Given the description of an element on the screen output the (x, y) to click on. 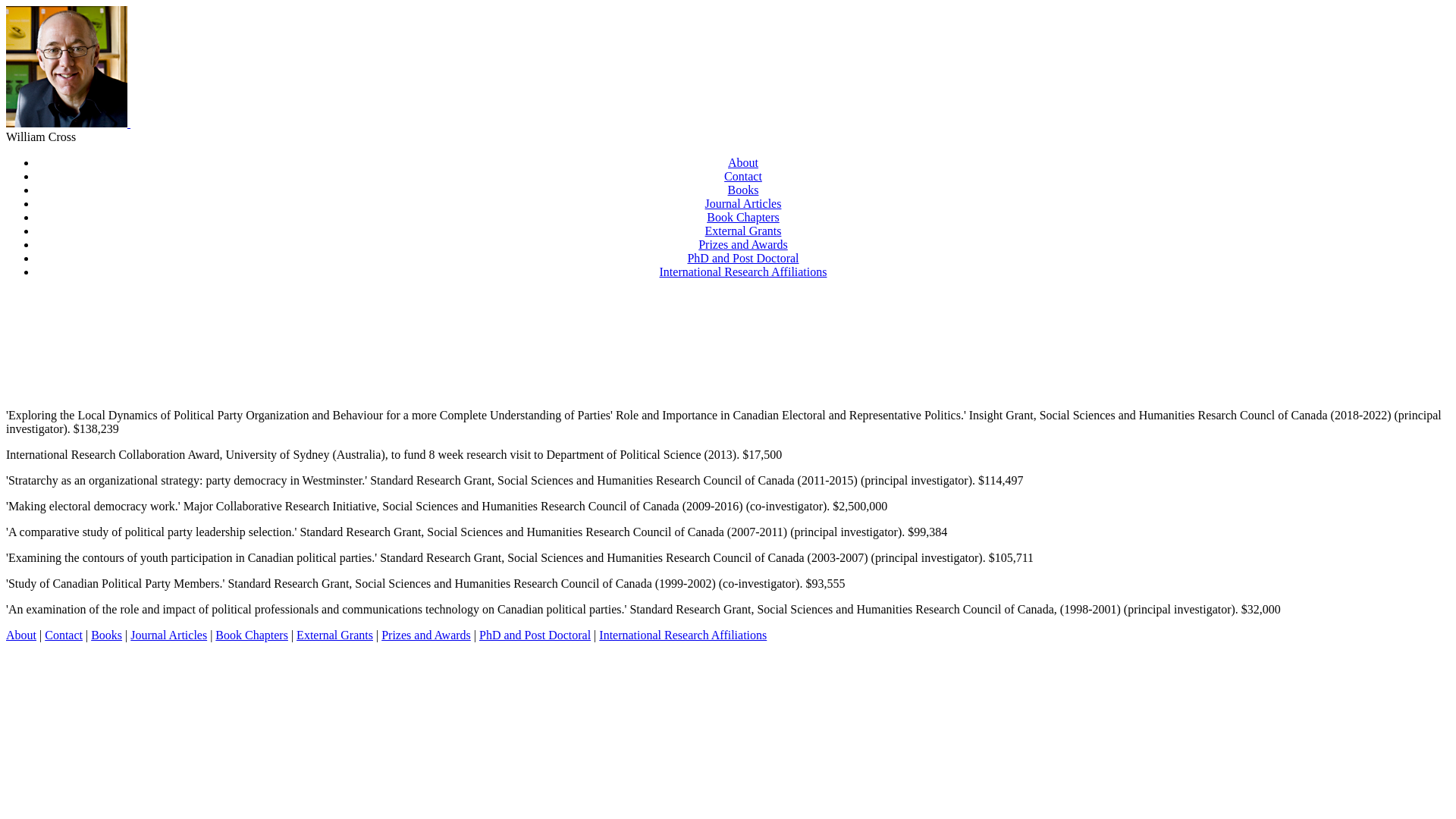
Prizes and Awards Element type: text (425, 634)
PhD and Post Doctoral Element type: text (534, 634)
External Grants Element type: text (334, 634)
External Grants Element type: text (743, 230)
About Element type: text (743, 162)
Contact Element type: text (743, 175)
PhD and Post Doctoral Element type: text (742, 257)
Book Chapters Element type: text (251, 634)
Journal Articles Element type: text (743, 203)
Books Element type: text (106, 634)
  Element type: text (68, 122)
International Research Affiliations Element type: text (743, 271)
Book Chapters Element type: text (742, 216)
Contact Element type: text (63, 634)
Books Element type: text (743, 189)
About Element type: text (21, 634)
Journal Articles Element type: text (168, 634)
Prizes and Awards Element type: text (742, 244)
International Research Affiliations Element type: text (682, 634)
